Given the description of an element on the screen output the (x, y) to click on. 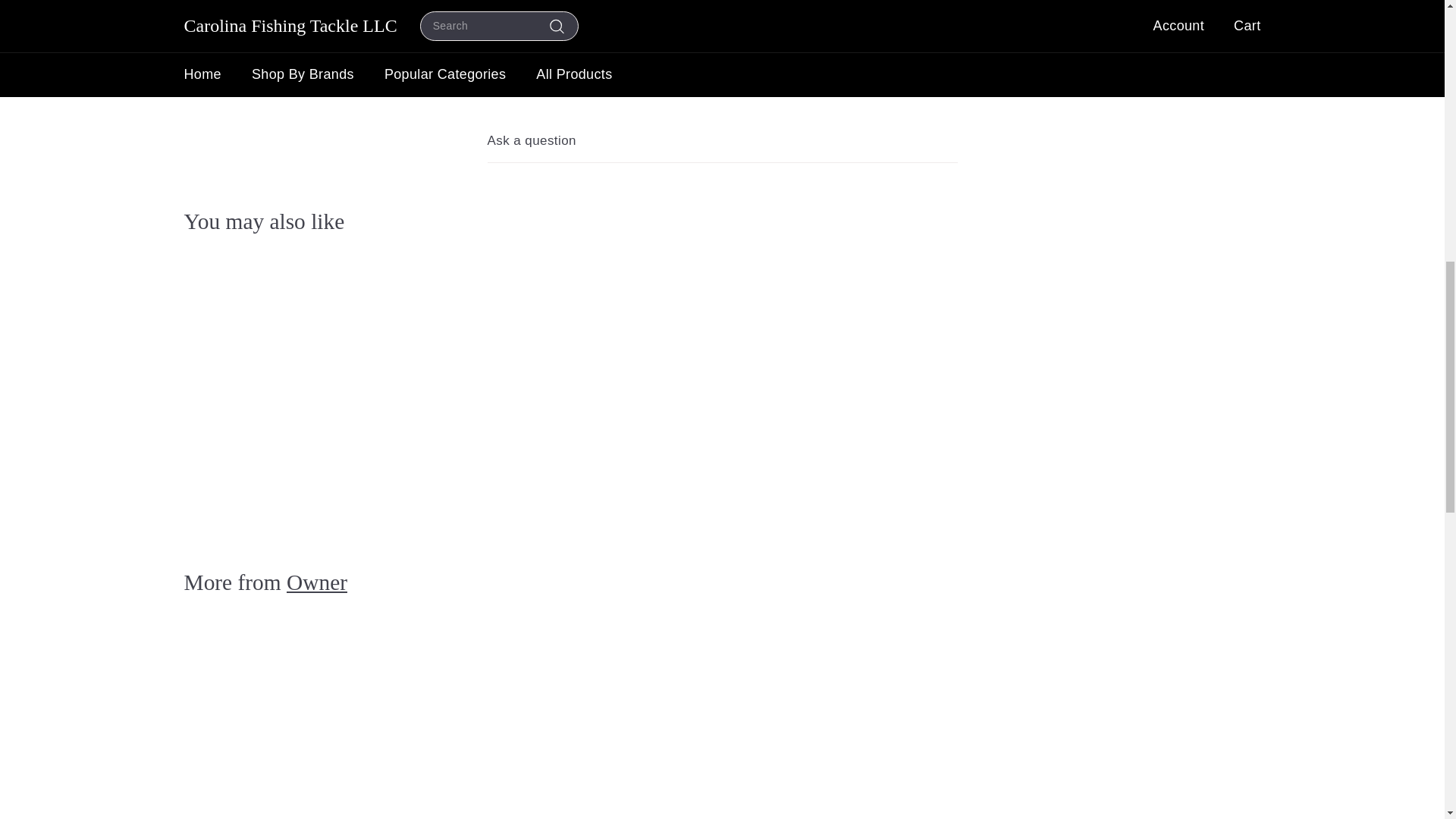
Owner (316, 582)
